Given the description of an element on the screen output the (x, y) to click on. 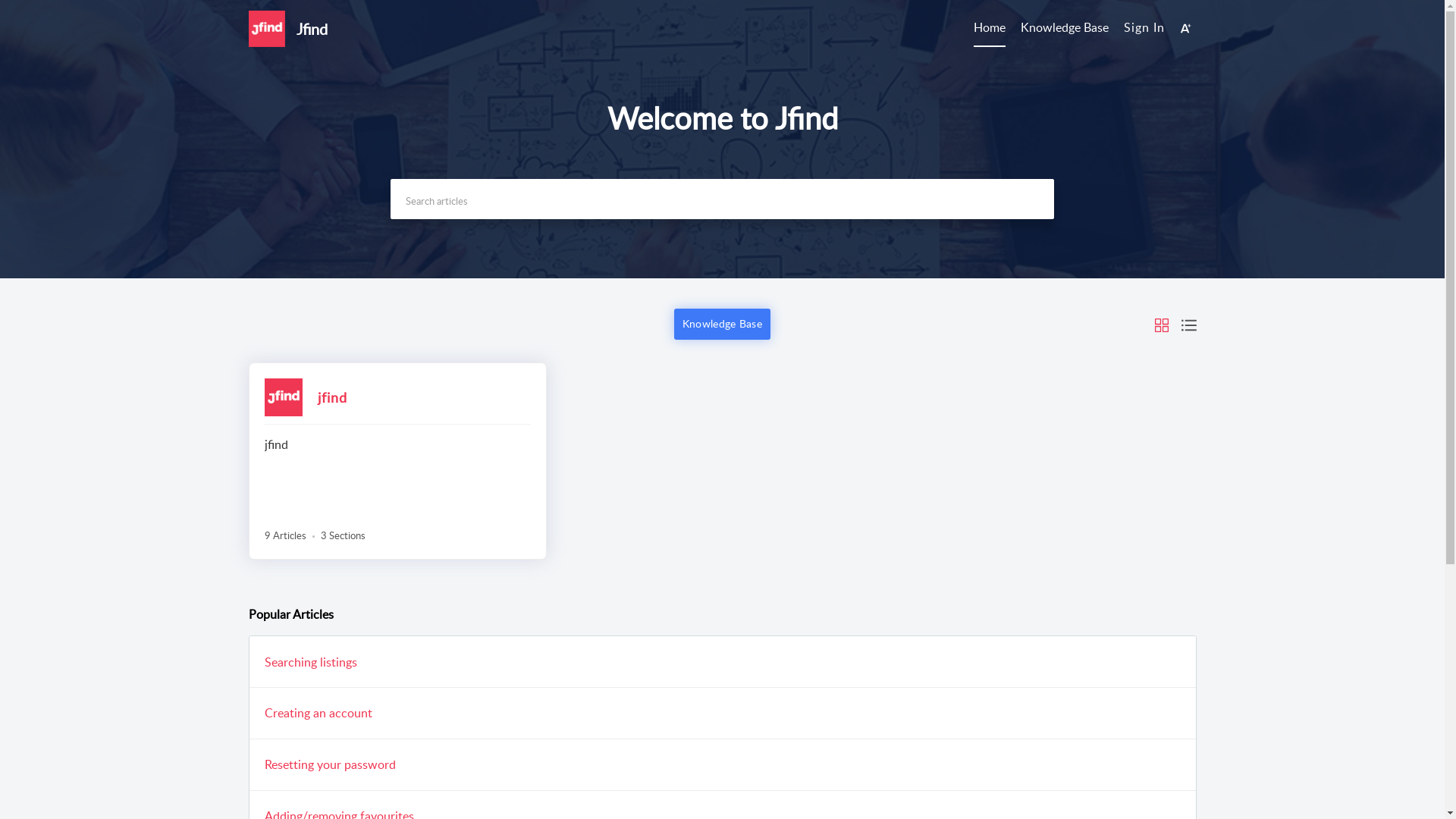
Grid view Element type: hover (1161, 323)
List view Element type: hover (1188, 323)
Knowledge Base Element type: text (1064, 27)
jfind Element type: text (331, 397)
Resetting your password Element type: text (329, 765)
Creating an account Element type: text (317, 713)
Home Element type: text (989, 27)
Sign In Element type: text (1143, 26)
Searching listings Element type: text (309, 661)
